Given the description of an element on the screen output the (x, y) to click on. 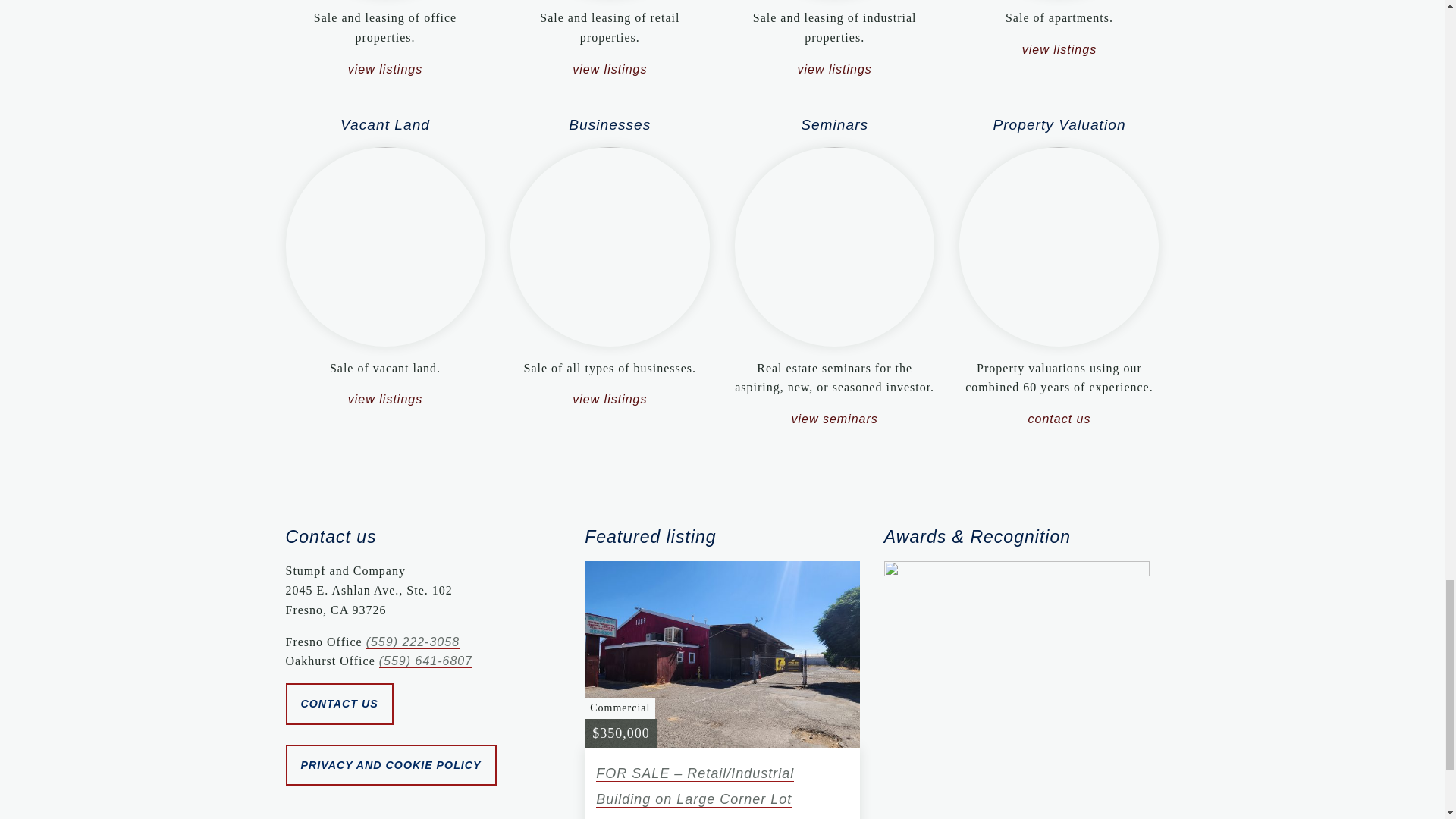
view listings (384, 69)
view listings (609, 399)
view listings (609, 69)
view listings (833, 69)
view listings (1059, 49)
view seminars (833, 418)
view listings (384, 399)
